Given the description of an element on the screen output the (x, y) to click on. 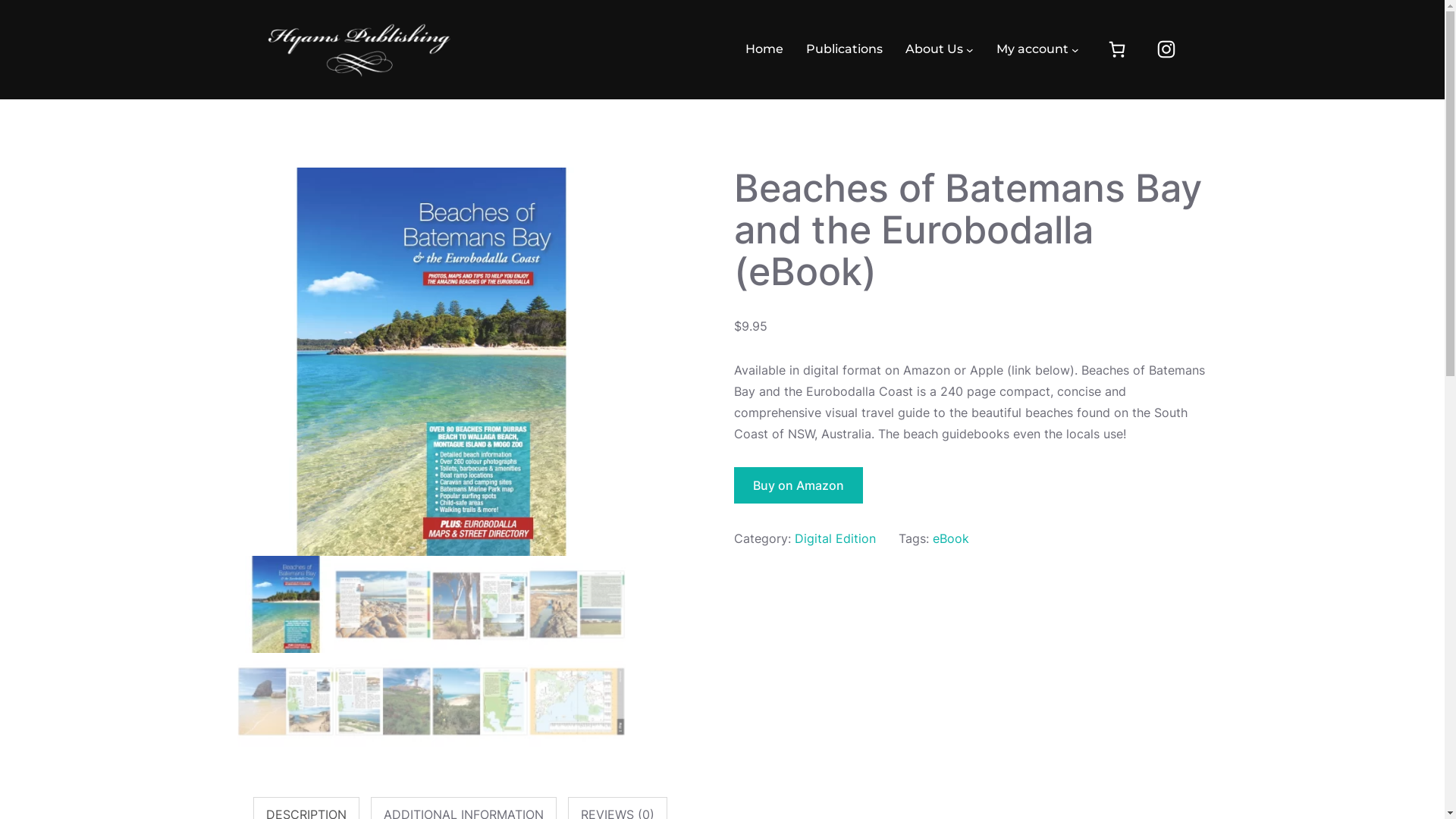
Buy on Amazon Element type: text (798, 485)
Publications Element type: text (844, 48)
Digital Edition Element type: text (834, 538)
Home Element type: text (764, 48)
About Us Element type: text (934, 48)
My account Element type: text (1032, 48)
eBook Element type: text (950, 538)
Instagram Element type: text (1165, 48)
bbb_cover_1080x1080-1.webp Element type: hover (430, 361)
